Given the description of an element on the screen output the (x, y) to click on. 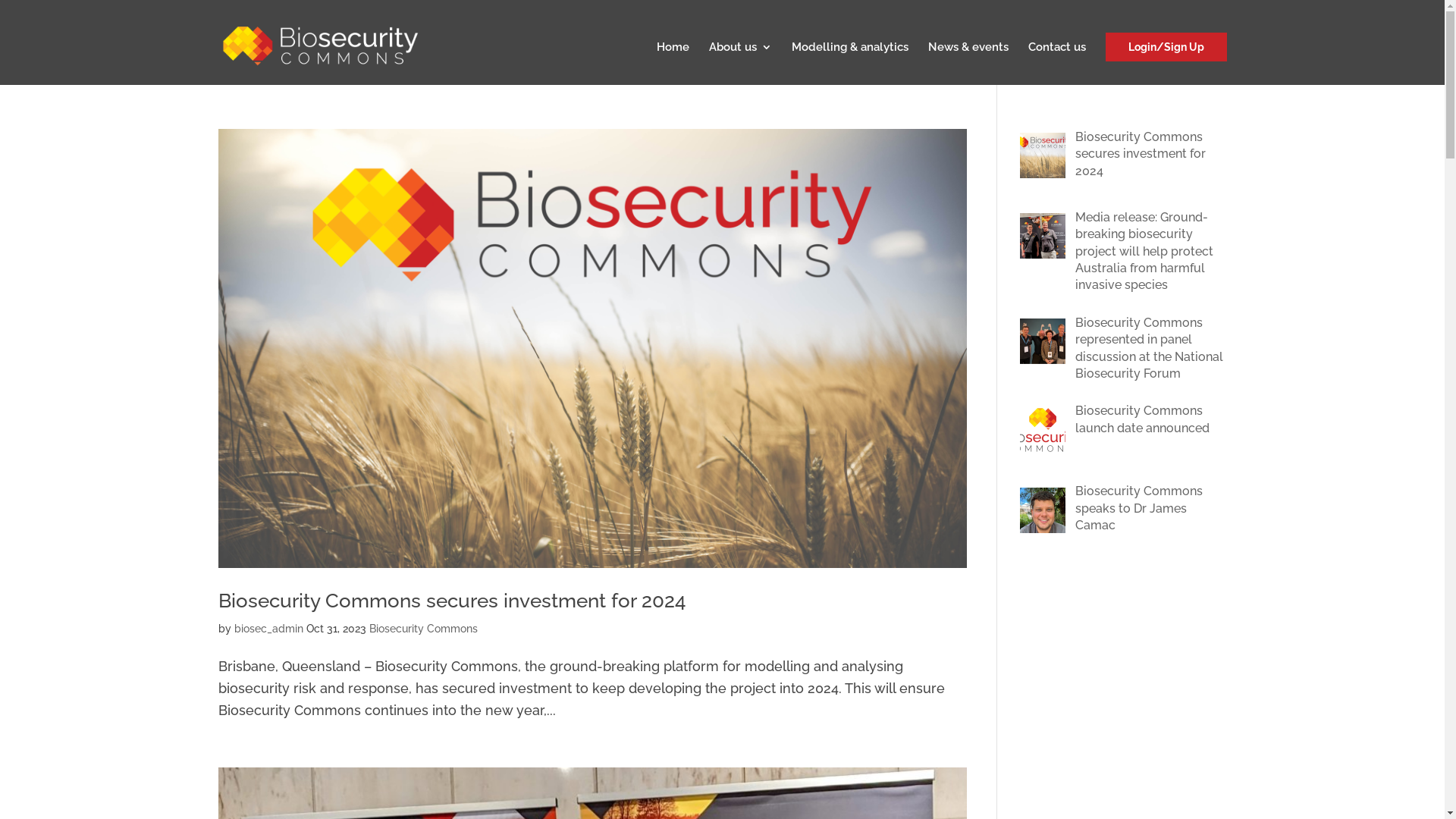
Biosecurity Commons speaks to Dr James Camac Element type: text (1122, 512)
News & events Element type: text (968, 62)
About us Element type: text (739, 62)
Login/Sign Up Element type: text (1165, 46)
Home Element type: text (672, 62)
Contact us Element type: text (1056, 62)
Biosecurity Commons secures investment for 2024 Element type: text (452, 600)
Biosecurity Commons Element type: text (422, 628)
Modelling & analytics Element type: text (849, 62)
Biosecurity Commons secures investment for 2024 Element type: text (1122, 158)
biosec_admin Element type: text (267, 628)
Biosecurity Commons launch date announced Element type: text (1122, 432)
